Given the description of an element on the screen output the (x, y) to click on. 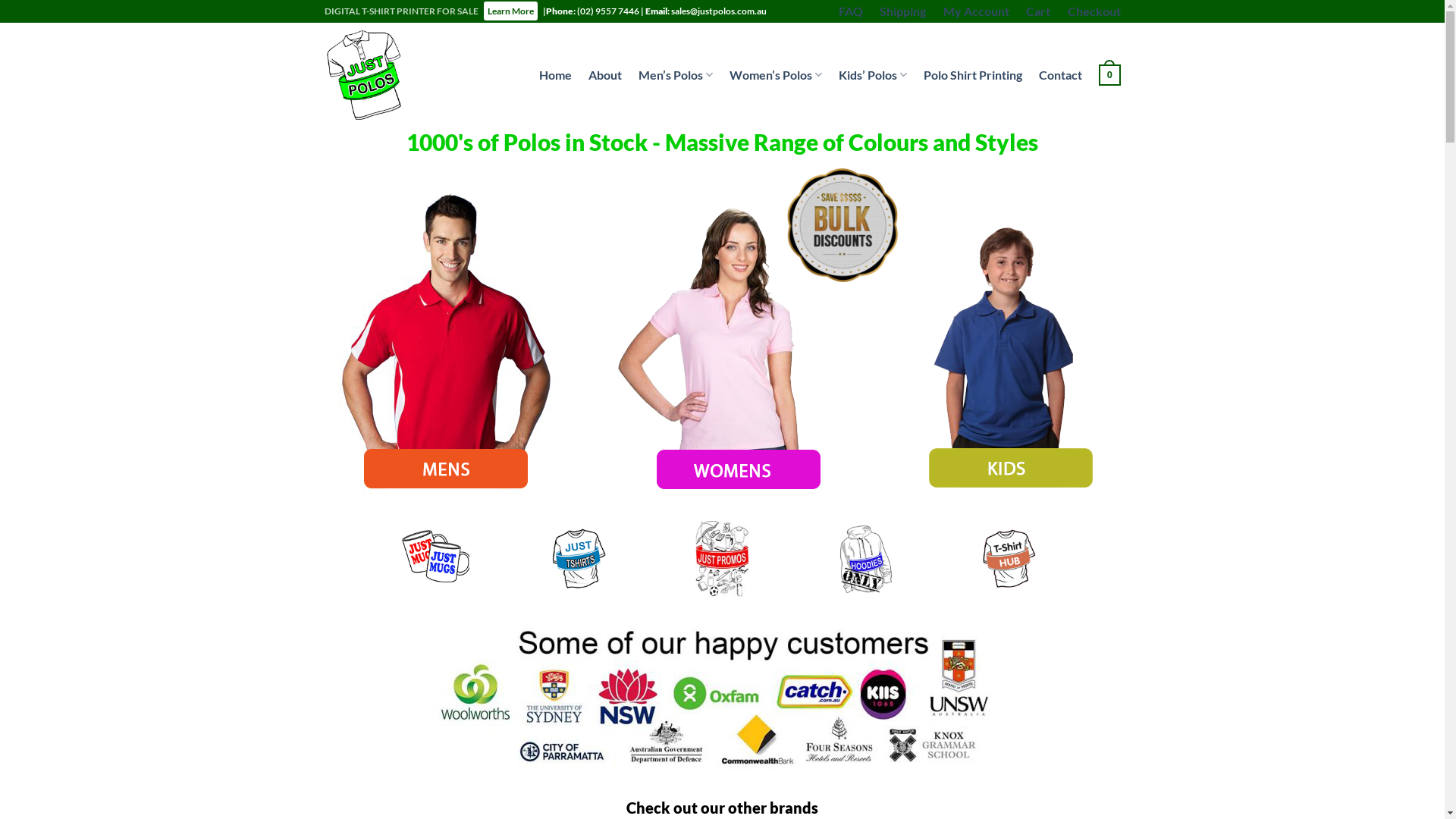
Cart Element type: text (1038, 10)
just-Mugs Element type: hover (435, 558)
DIGITAL T-SHIRT PRINTER FOR SALE Element type: text (402, 10)
bulk-badge Element type: hover (841, 225)
Just-Hoodies Element type: hover (865, 558)
0 Element type: text (1109, 73)
Home Element type: text (555, 74)
My Account Element type: text (976, 10)
FAQ Element type: text (850, 10)
just-promos Element type: hover (722, 558)
Learn More Element type: text (509, 10)
Checkout Element type: text (1093, 10)
About Element type: text (604, 74)
Polo Shirt Printing Element type: text (972, 74)
Shipping Element type: text (902, 10)
Polo Shirts Australia - Bulk Buy Blank Polo Shirts Australia Element type: hover (365, 74)
T-Shirt Hub Element type: hover (1008, 558)
Bulk Blank Kids Polos Element type: hover (995, 331)
Just-TShirt Element type: hover (578, 558)
Contact Element type: text (1060, 74)
Bulk Blank Mens Polos Element type: hover (449, 331)
Bulk Blank Womens Polos Element type: hover (722, 331)
